Given the description of an element on the screen output the (x, y) to click on. 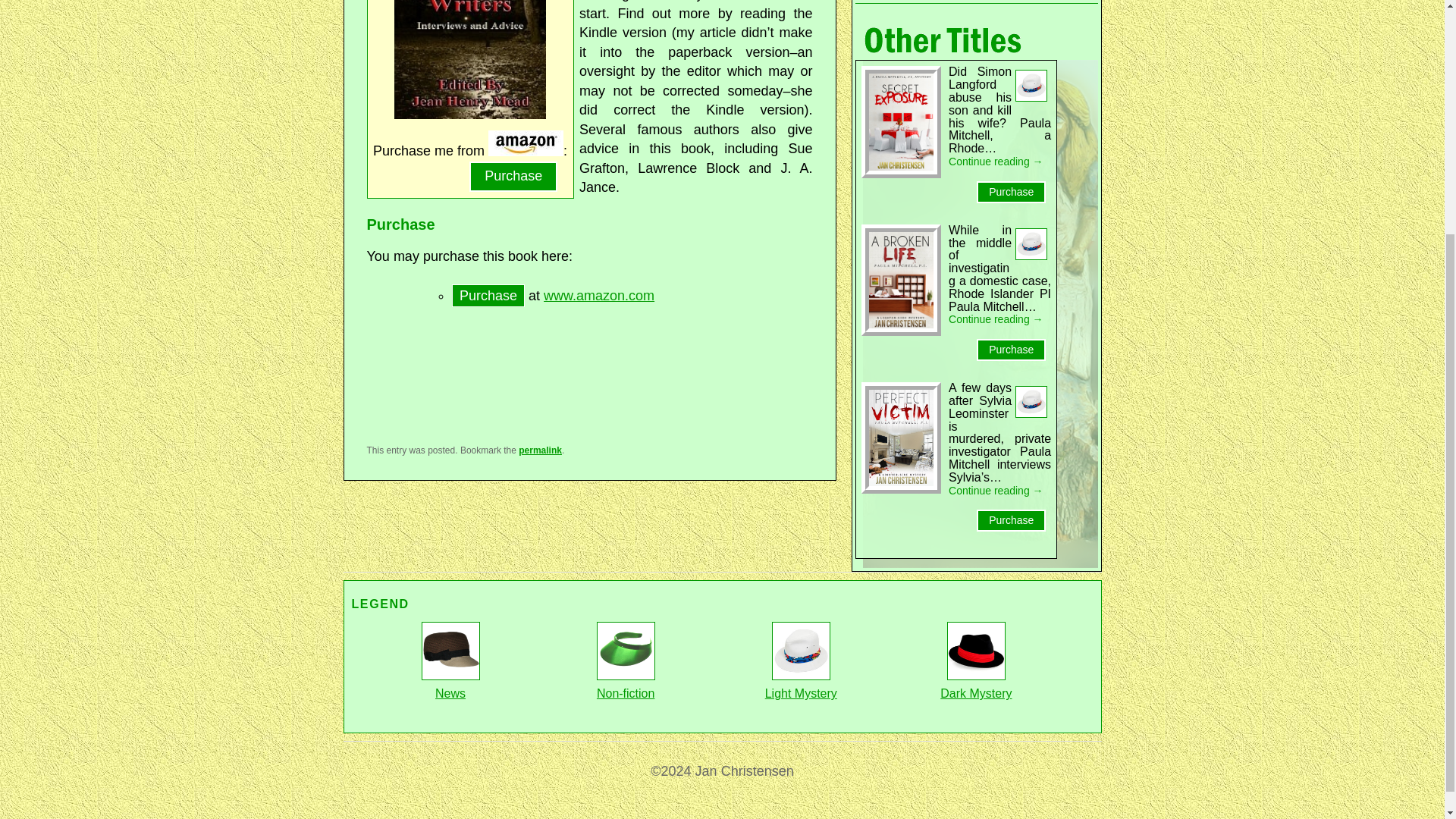
Click for more on newss at my site. (451, 684)
Purchase (1010, 350)
Click to buy this book (525, 151)
Click for more on nonfictions at my site. (625, 684)
Click for more on darks at my site. (975, 684)
www.amazon.com (598, 295)
Permalink to Getting It Down (540, 450)
permalink (540, 450)
Purchase (1010, 191)
Purchase (512, 176)
Purchase (487, 295)
News (451, 684)
Non-fiction (625, 684)
Light Mystery (801, 684)
Click for more on lights at my site. (801, 684)
